Given the description of an element on the screen output the (x, y) to click on. 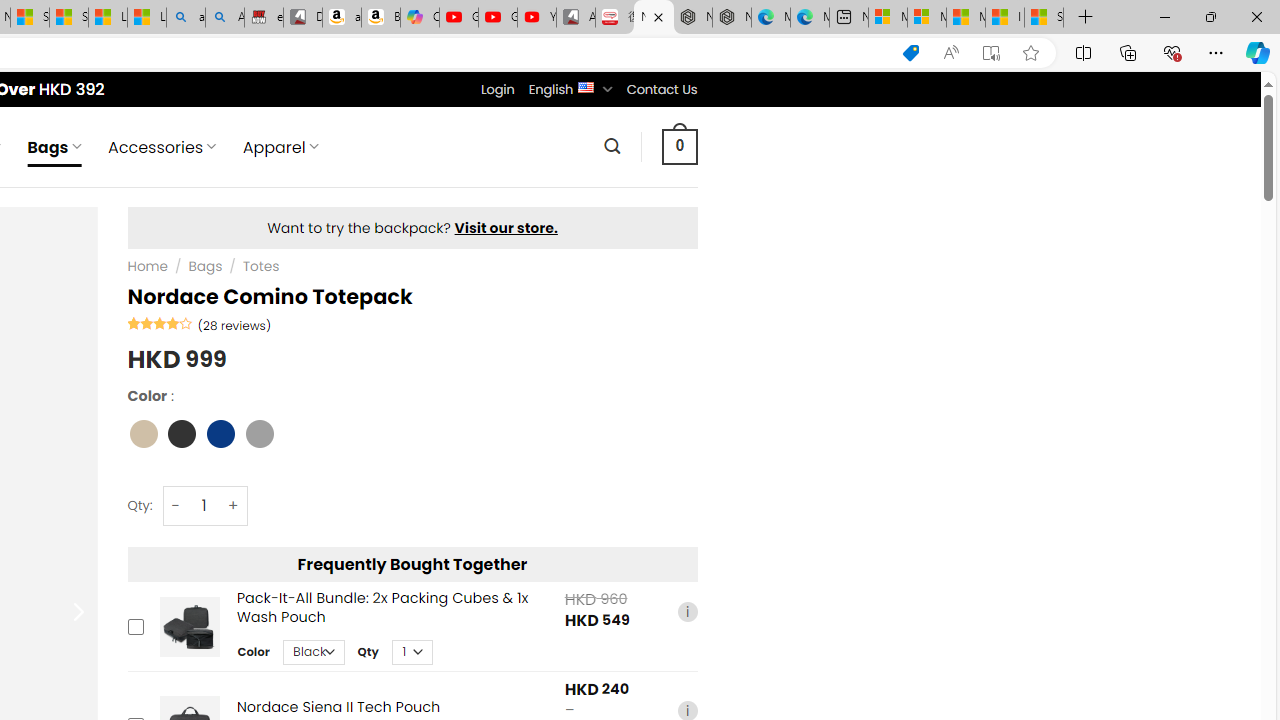
(28 reviews) (234, 324)
Gloom - YouTube (497, 17)
Contact Us (661, 89)
Home (147, 267)
Add this product to cart (134, 626)
 0  (679, 146)
amazon.in/dp/B0CX59H5W7/?tag=gsmcom05-21 (341, 17)
Amazon Echo Dot PNG - Search Images (225, 17)
- (175, 505)
